Given the description of an element on the screen output the (x, y) to click on. 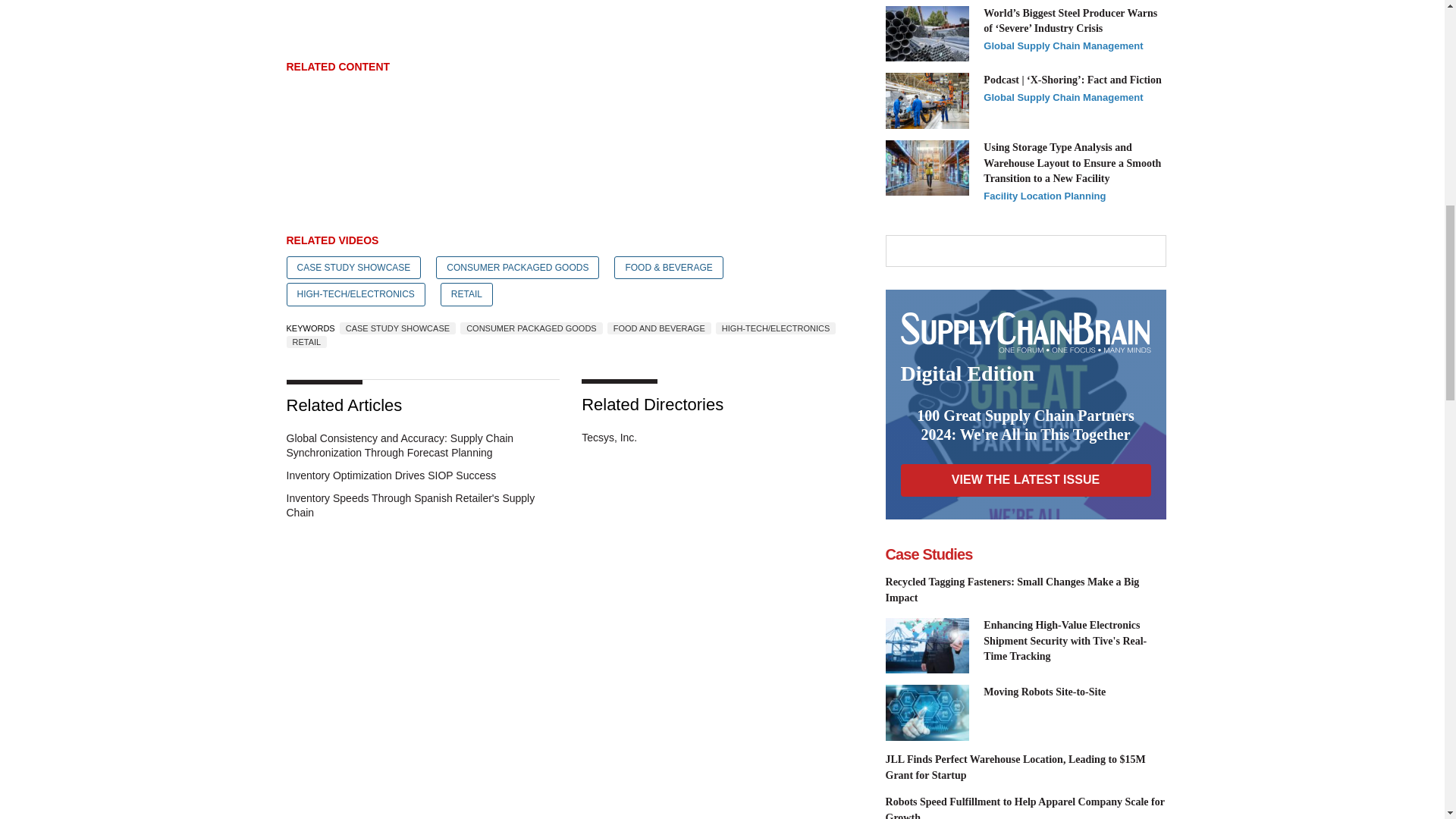
P66 EXOTEC.jpg (927, 712)
CHINA CAR MANUFACTURING iStock- Jenson -1141363948.jpg (927, 100)
P65 TIVE.jpg (927, 646)
china-steel-bloomberg-415015874.jpg (927, 33)
